Given the description of an element on the screen output the (x, y) to click on. 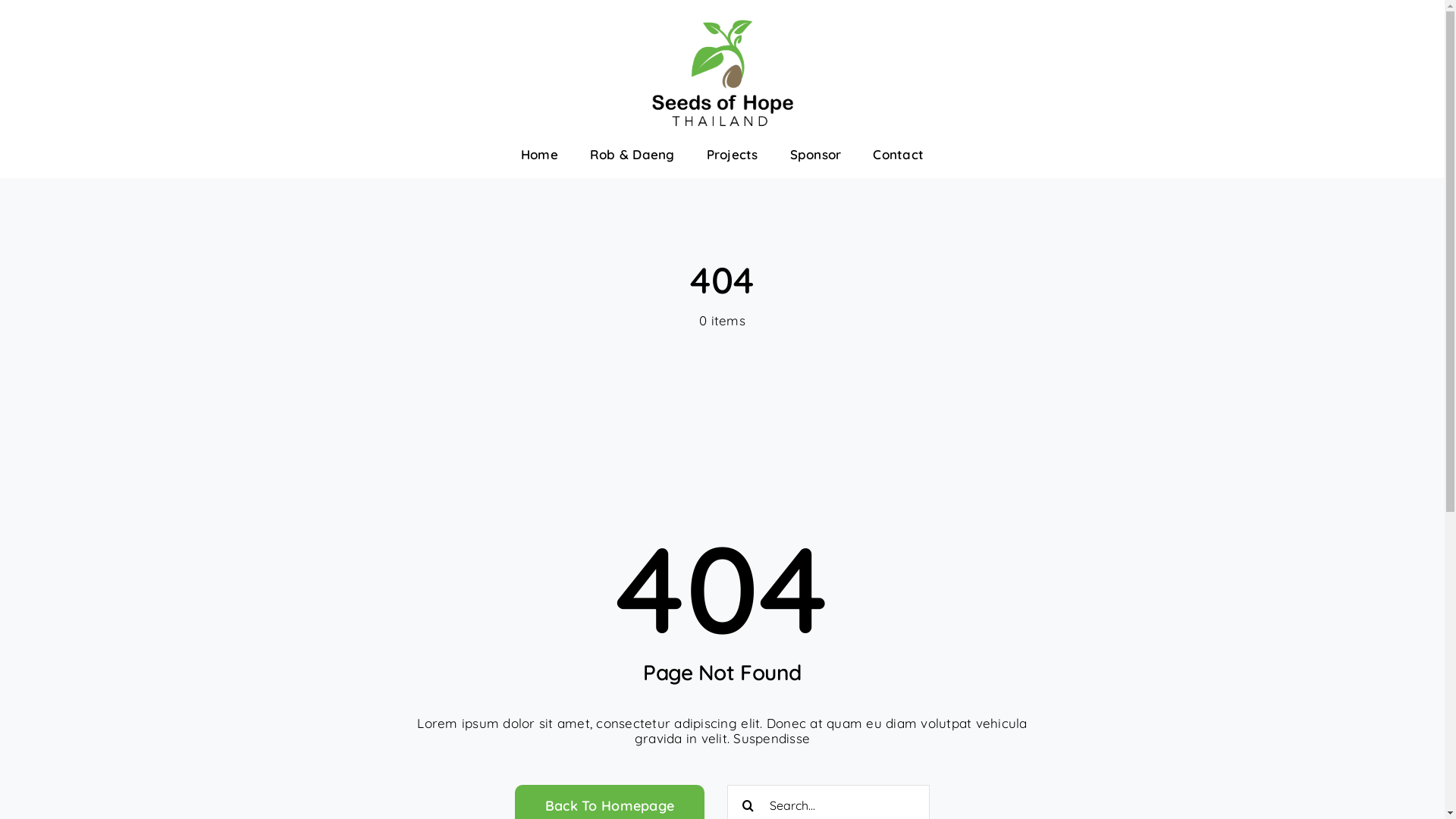
Contact Element type: text (898, 155)
Projects Element type: text (732, 155)
Sponsor Element type: text (815, 155)
Rob & Daeng Element type: text (632, 155)
Home Element type: text (539, 155)
